Given the description of an element on the screen output the (x, y) to click on. 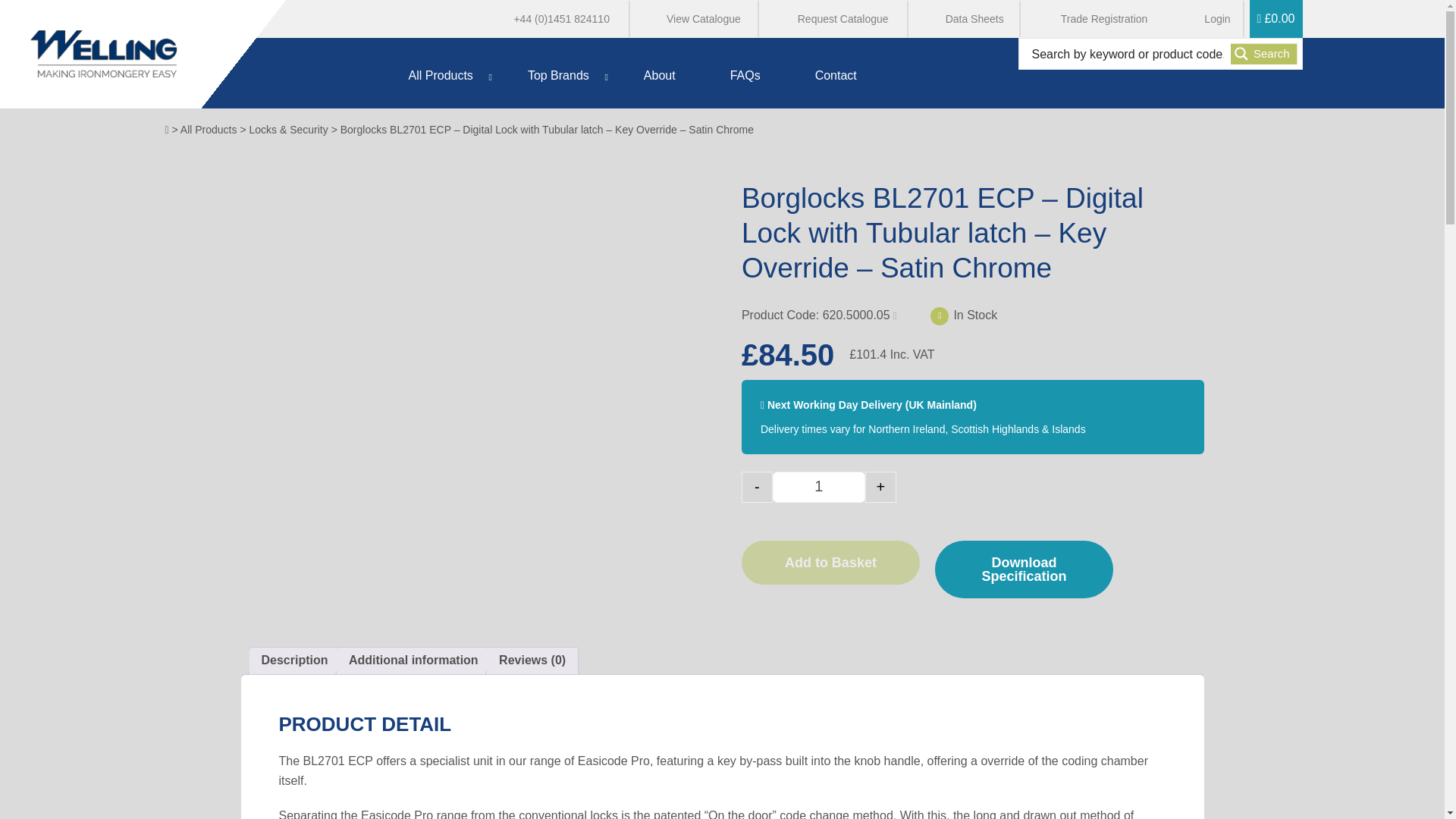
View Catalogue (694, 18)
Data Sheets (964, 18)
Request Catalogue (833, 18)
Trade Registration (1094, 18)
Start shopping (1276, 18)
Qty (818, 486)
Login (1207, 18)
1 (818, 486)
